Given the description of an element on the screen output the (x, y) to click on. 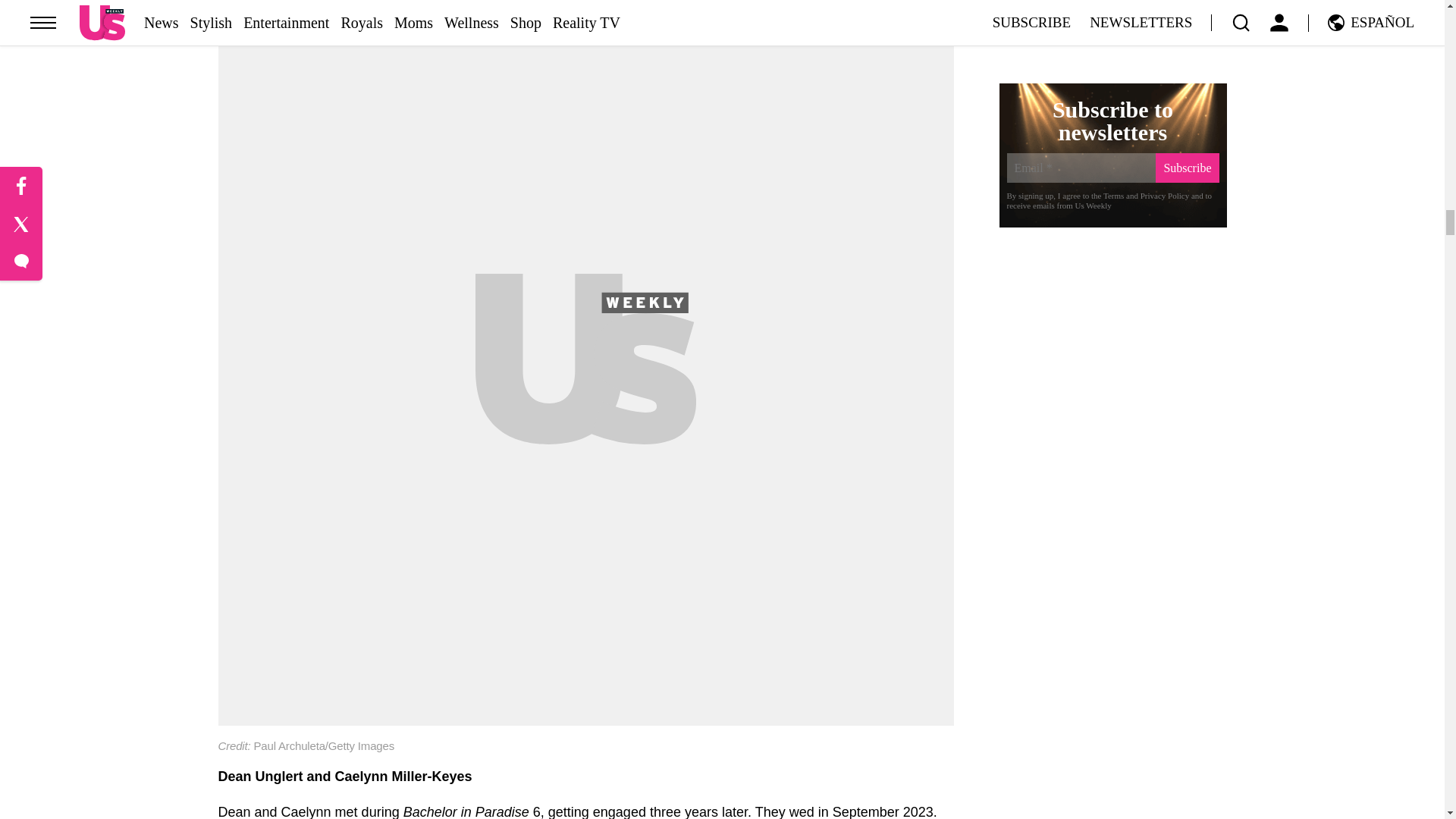
Hannah Godwin and Dylan Barbour (585, 765)
Kenny Braasch and Mari Pepin (585, 7)
